Given the description of an element on the screen output the (x, y) to click on. 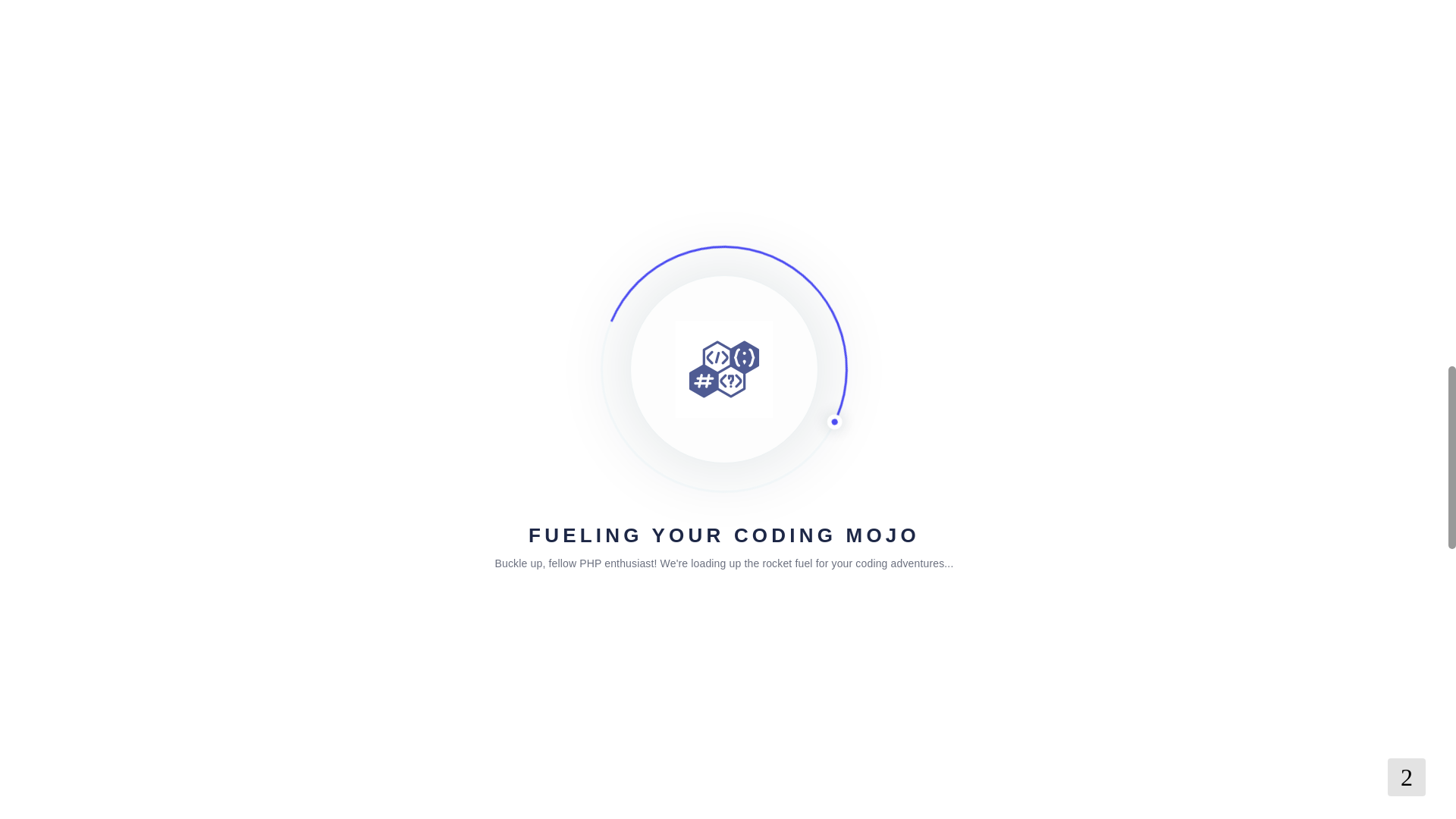
rsteuber (371, 44)
